Given the description of an element on the screen output the (x, y) to click on. 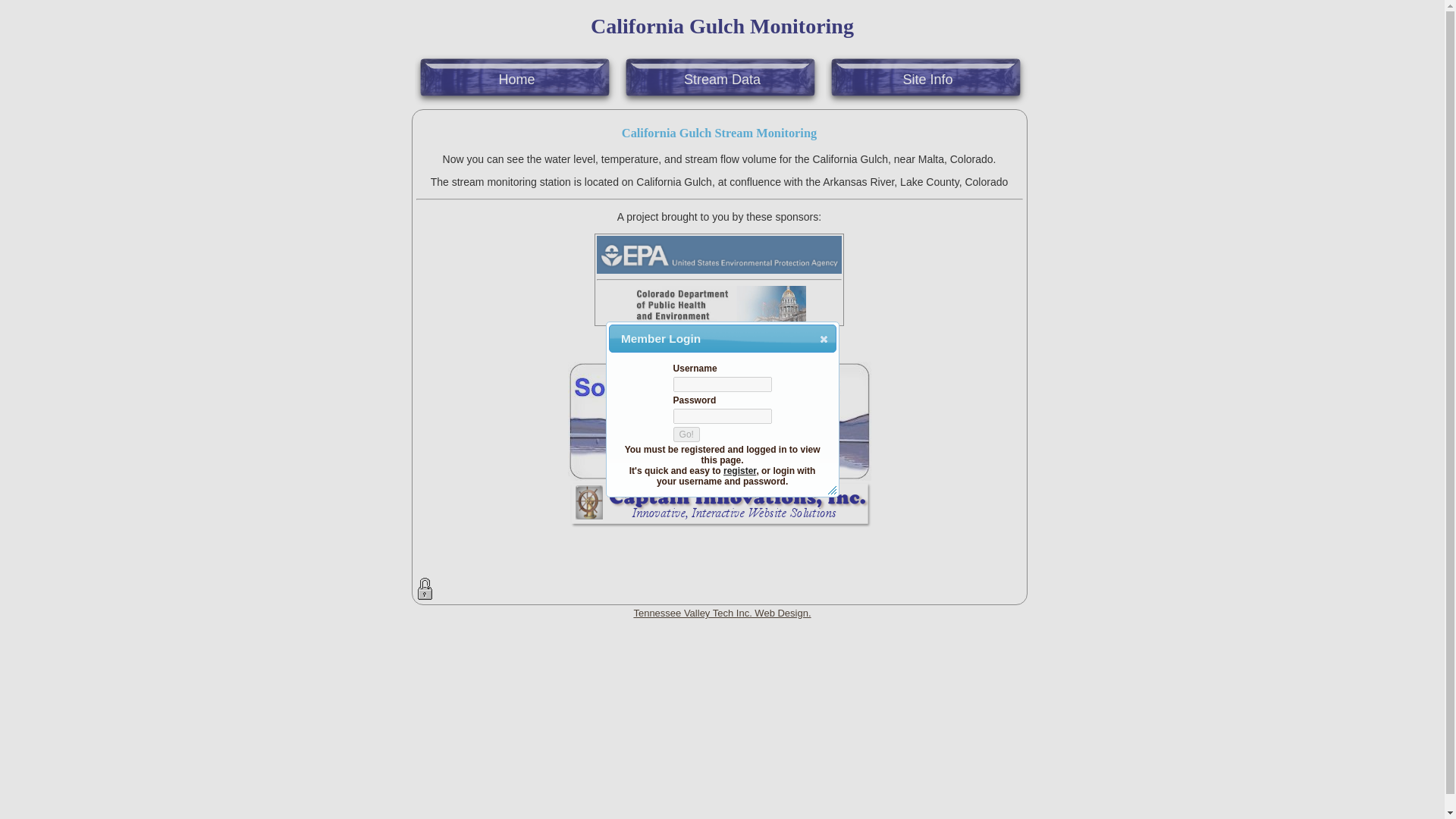
Go! (686, 434)
Tennessee Valley Tech Inc. Web Design. (721, 612)
Stream Data (722, 78)
Go! (686, 434)
Home (515, 78)
close (823, 338)
Site Info (927, 78)
register (739, 470)
